Given the description of an element on the screen output the (x, y) to click on. 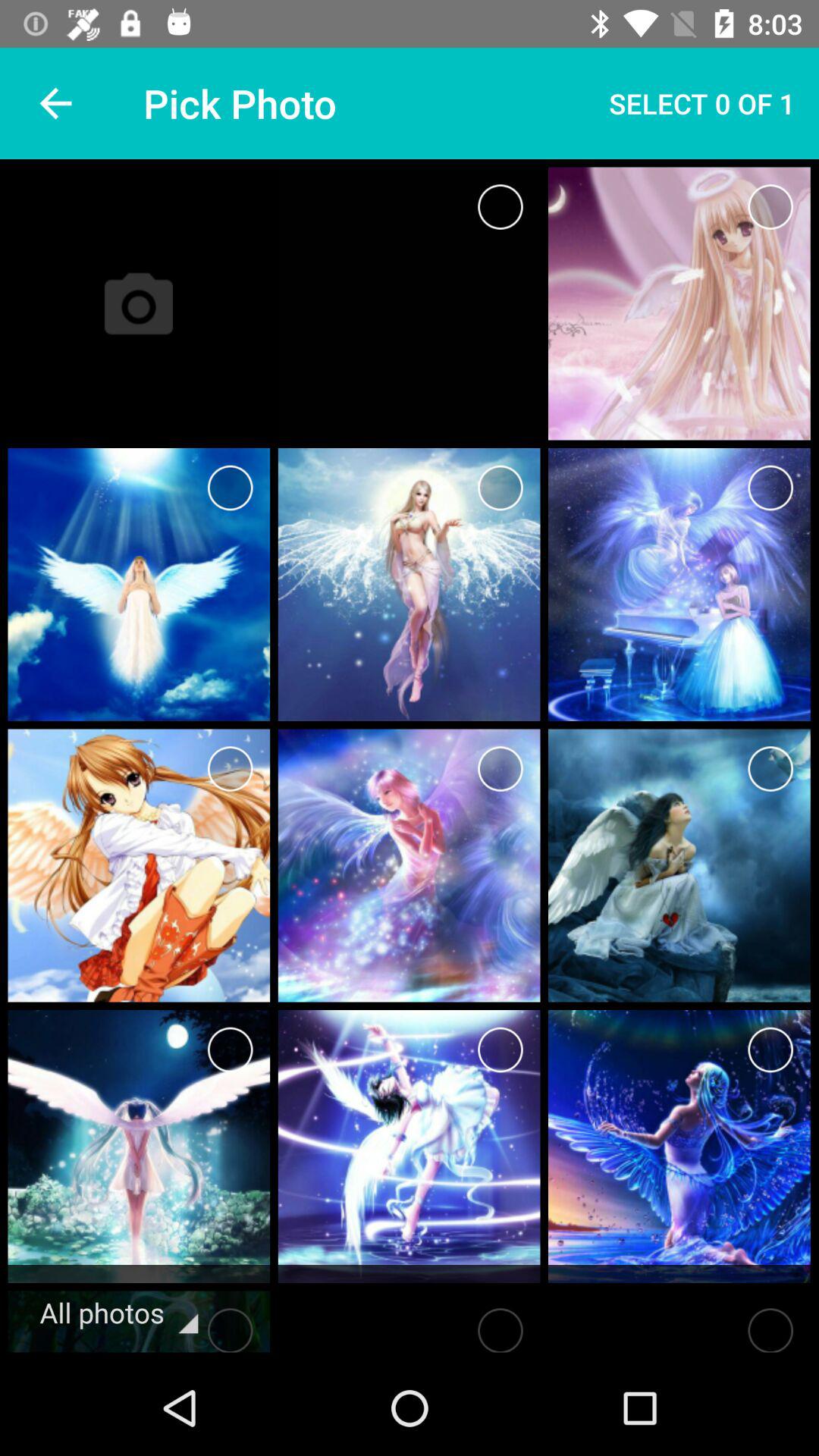
select image (770, 487)
